Given the description of an element on the screen output the (x, y) to click on. 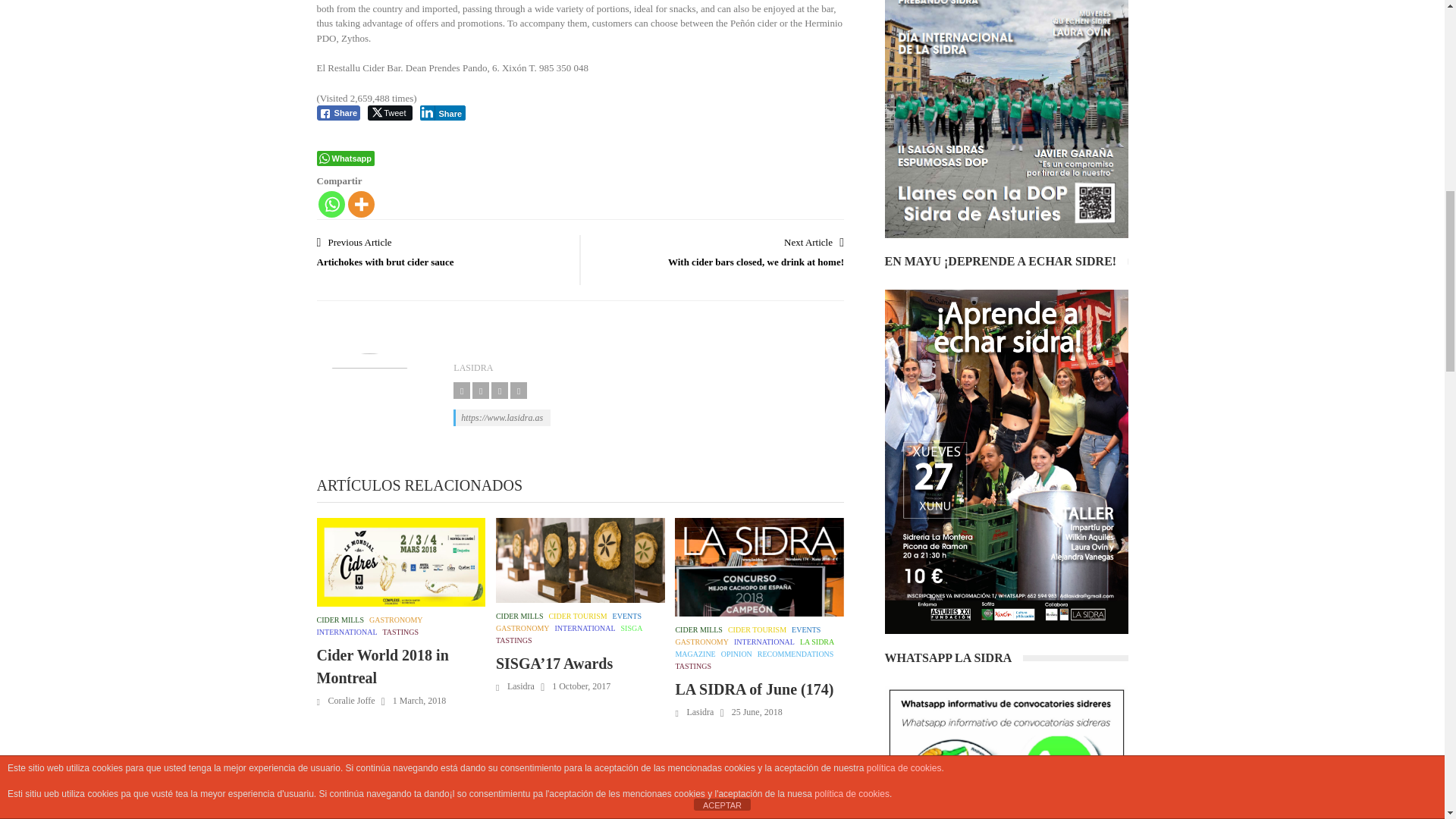
Instagram (480, 390)
Facebook (461, 390)
Youtube (519, 390)
Cider World 2018 in Montreal (401, 561)
Twitter (500, 390)
Whatsapp (331, 203)
More (360, 203)
